Given the description of an element on the screen output the (x, y) to click on. 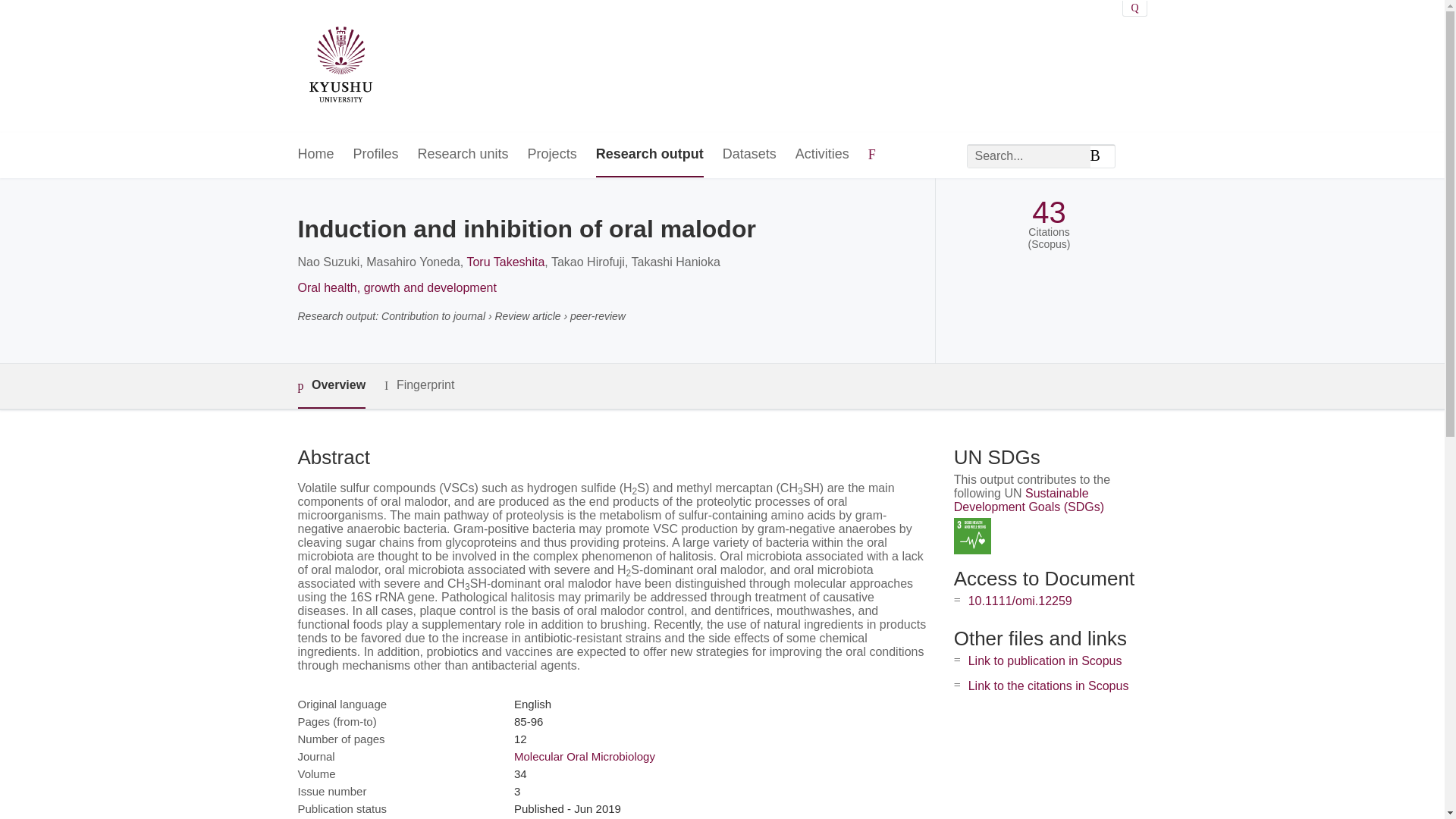
Datasets (749, 154)
Link to the citations in Scopus (1048, 685)
Projects (551, 154)
Oral health, growth and development (396, 287)
Molecular Oral Microbiology (584, 756)
SDG 3 - Good Health and Well-being (972, 536)
Link to publication in Scopus (1045, 660)
Toru Takeshita (504, 261)
Activities (821, 154)
43 (1048, 212)
Fingerprint (419, 385)
Profiles (375, 154)
Research output (649, 154)
Overview (331, 385)
